Given the description of an element on the screen output the (x, y) to click on. 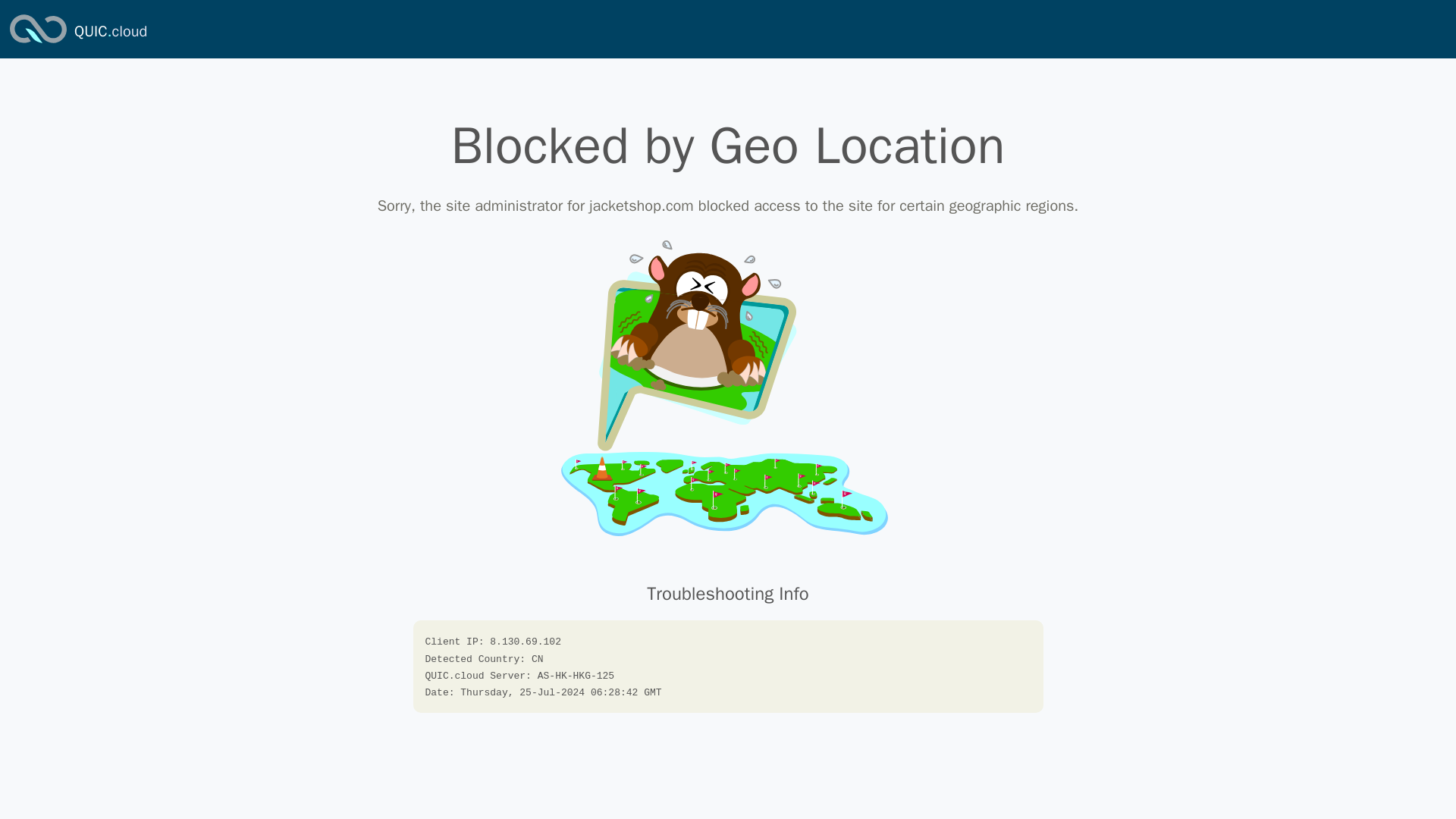
QUIC.cloud (110, 31)
QUIC.cloud (37, 43)
QUIC.cloud (110, 31)
